Given the description of an element on the screen output the (x, y) to click on. 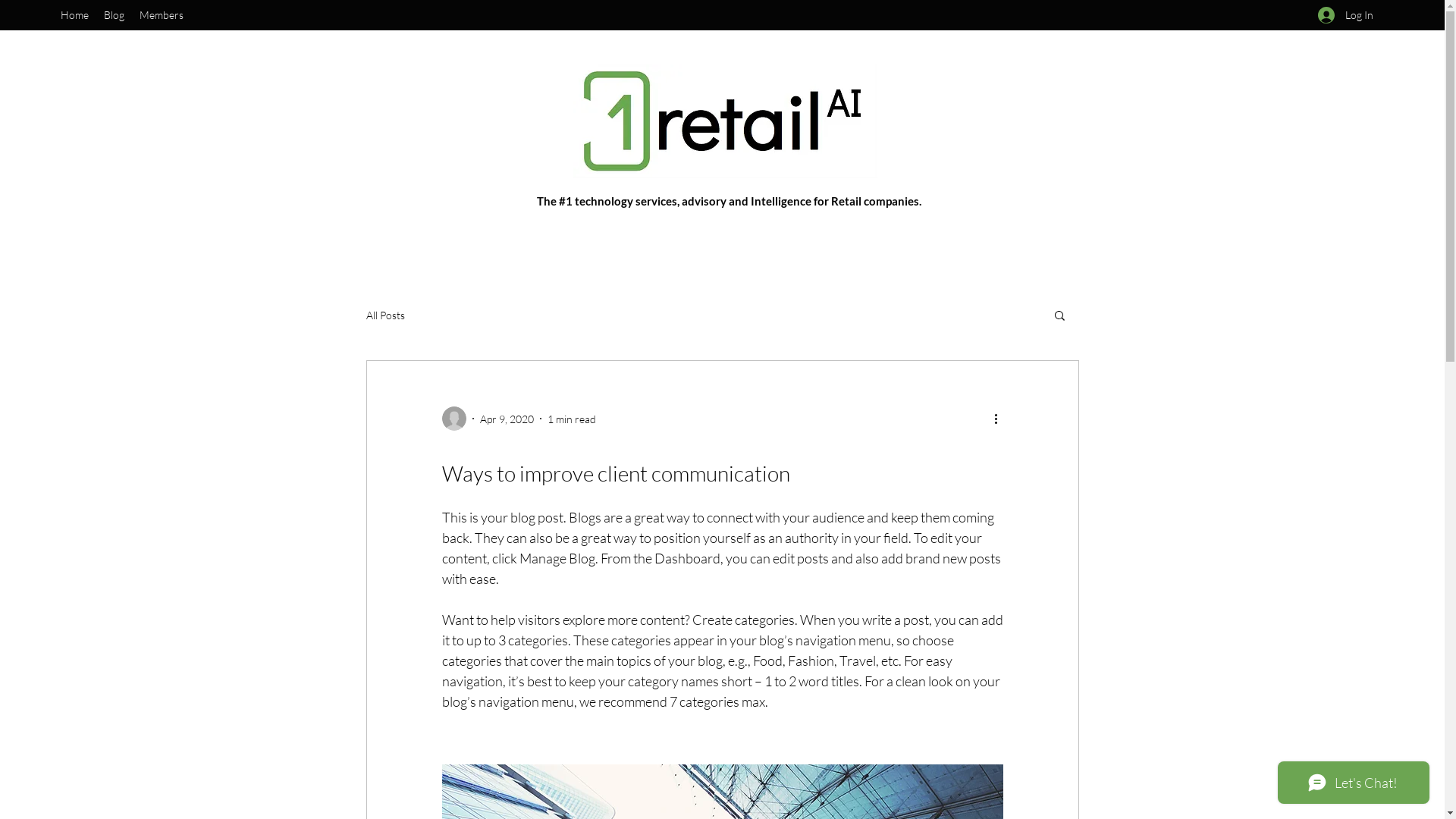
Log In Element type: text (1345, 14)
Members Element type: text (161, 14)
All Posts Element type: text (384, 314)
Blog Element type: text (113, 14)
Home Element type: text (74, 14)
